Given the description of an element on the screen output the (x, y) to click on. 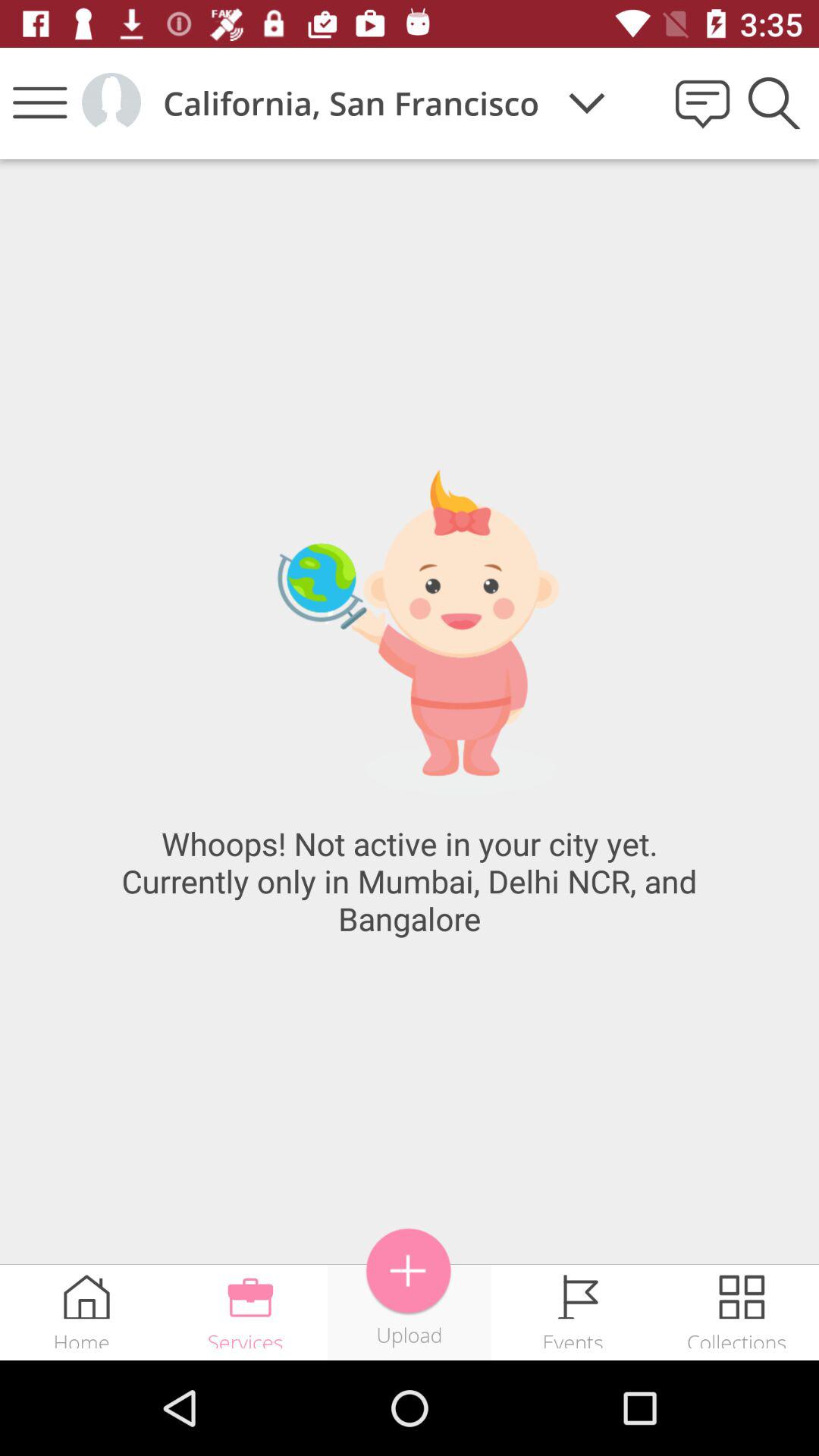
click item to the right of california, san francisco item (586, 103)
